Given the description of an element on the screen output the (x, y) to click on. 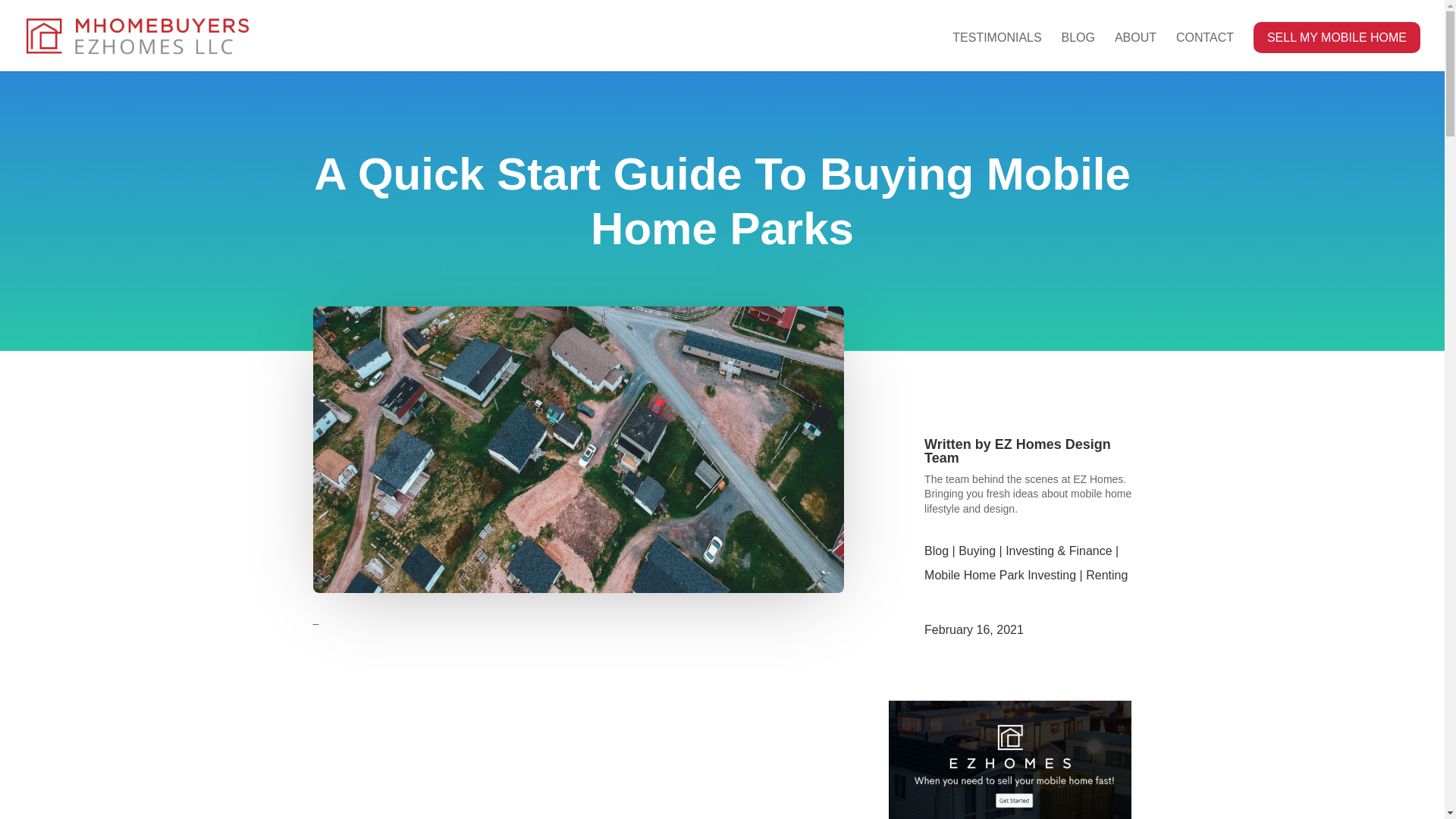
Renting (1106, 574)
EZ Homes Design Team (1017, 451)
ABOUT (1135, 49)
Mobile Home Park Investing (999, 574)
BLOG (1077, 49)
CONTACT (1204, 49)
Blog (936, 550)
Advertisement (578, 744)
SELL MY MOBILE HOME (1337, 37)
Buying (976, 550)
